Given the description of an element on the screen output the (x, y) to click on. 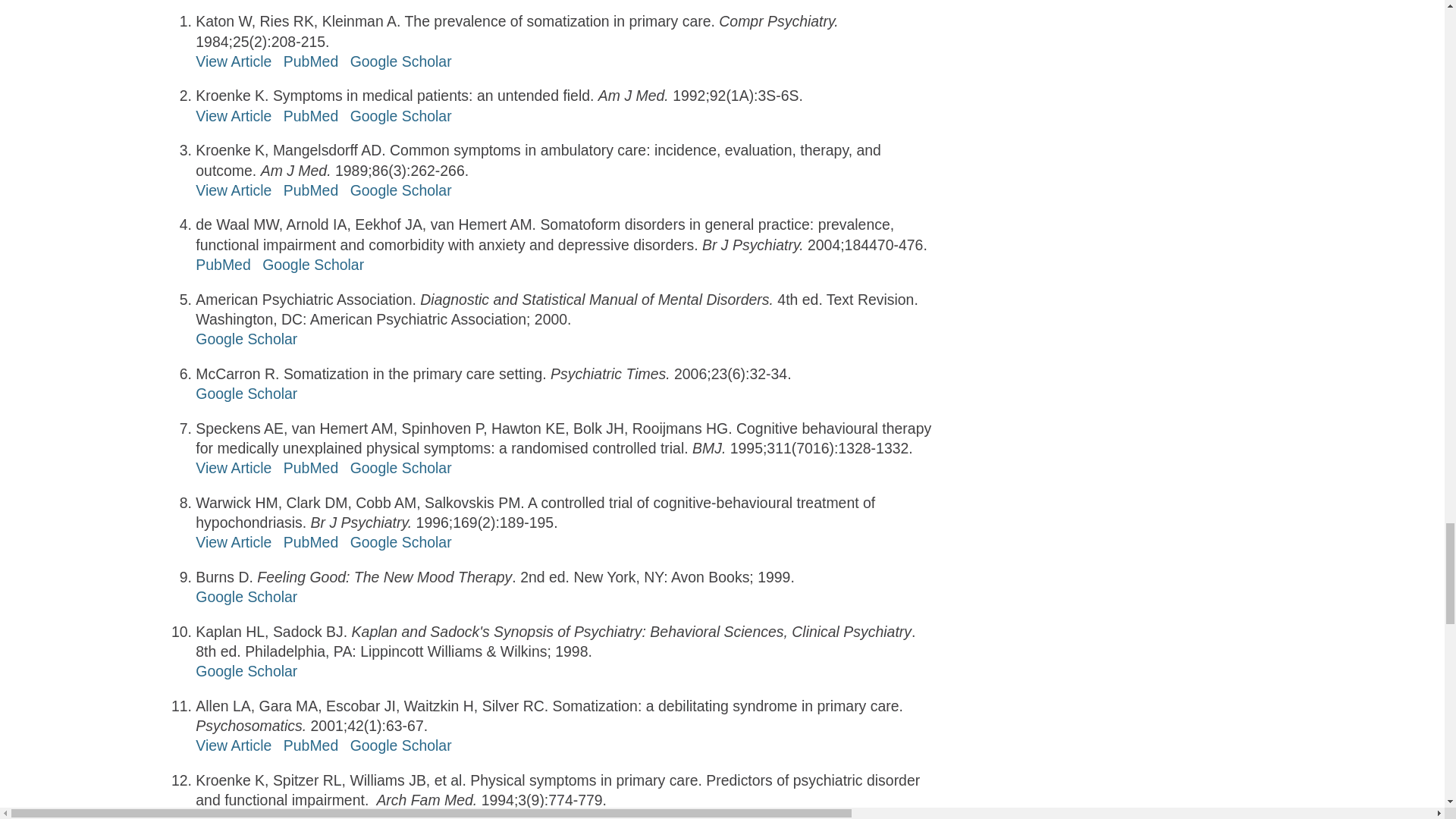
View Article (232, 61)
PubMed (310, 61)
